Given the description of an element on the screen output the (x, y) to click on. 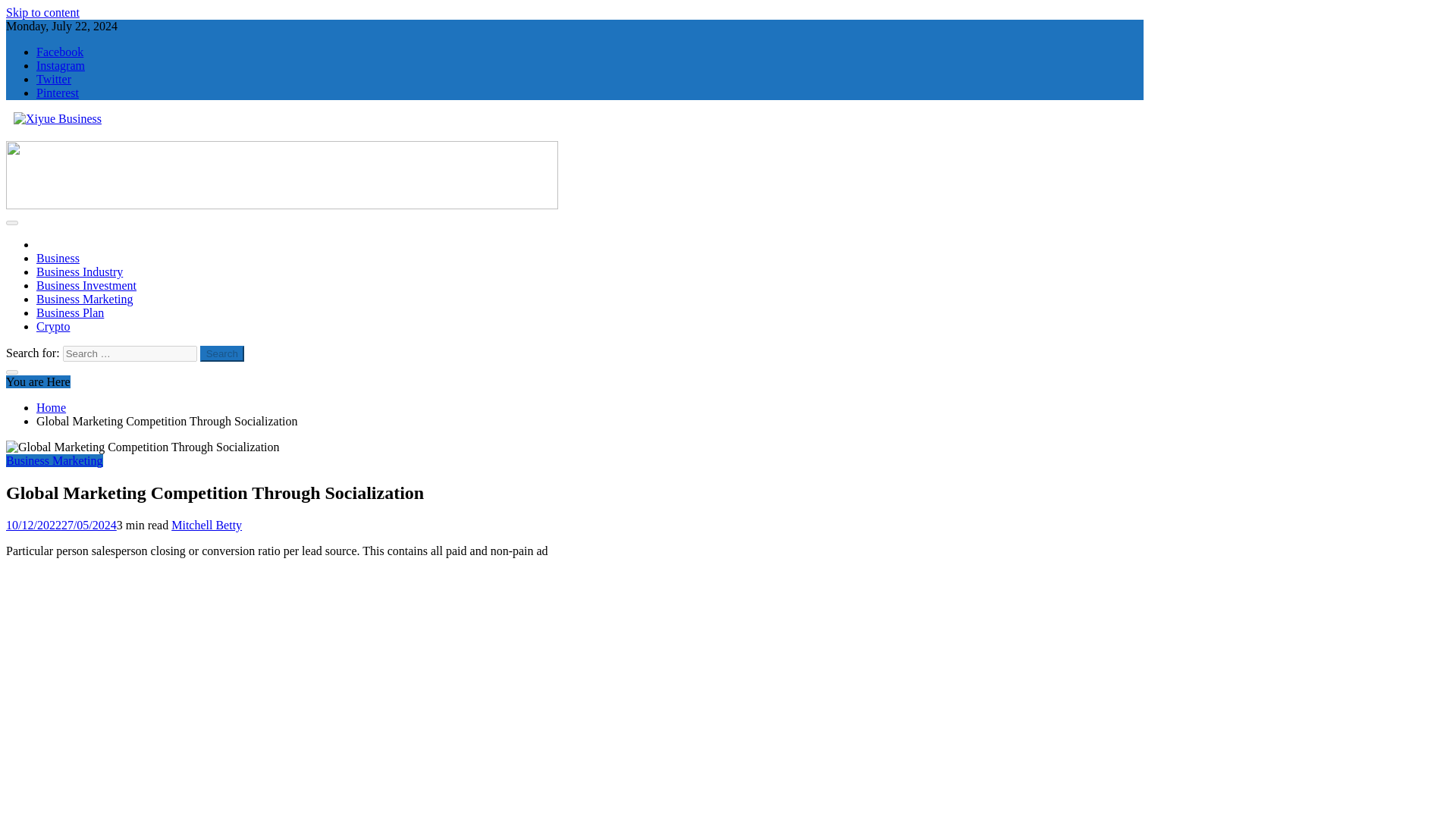
Home (50, 407)
Business Investment (86, 285)
Business Industry (79, 271)
Crypto (52, 326)
Facebook (59, 51)
Business Marketing (84, 298)
Search (222, 353)
Business Marketing (54, 460)
Pinterest (57, 92)
Skip to content (42, 11)
Instagram (60, 65)
Search (222, 353)
Xiyue Business (43, 144)
Mitchell Betty (206, 524)
Search (222, 353)
